Given the description of an element on the screen output the (x, y) to click on. 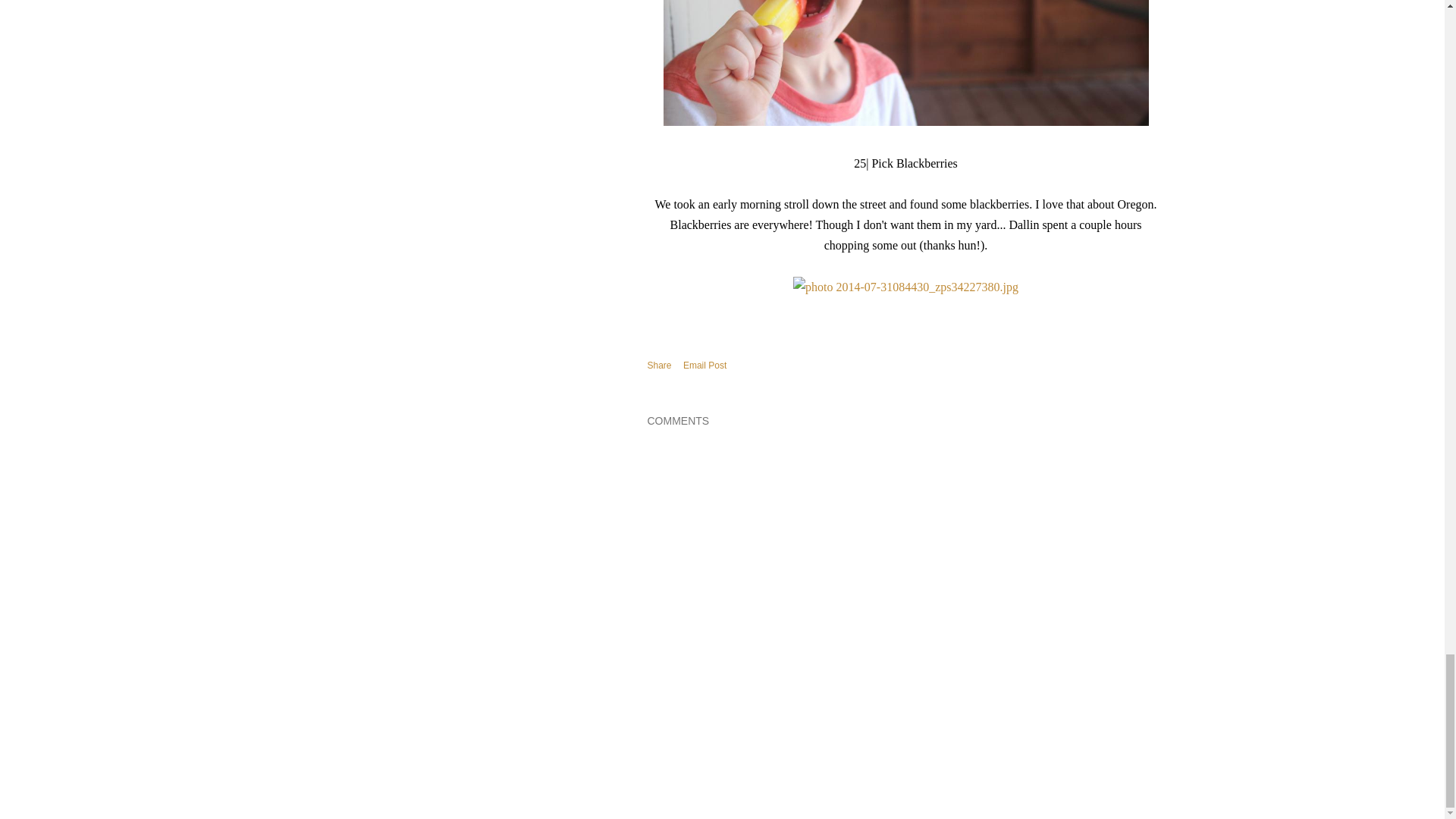
Share (659, 365)
Email Post (704, 364)
